Given the description of an element on the screen output the (x, y) to click on. 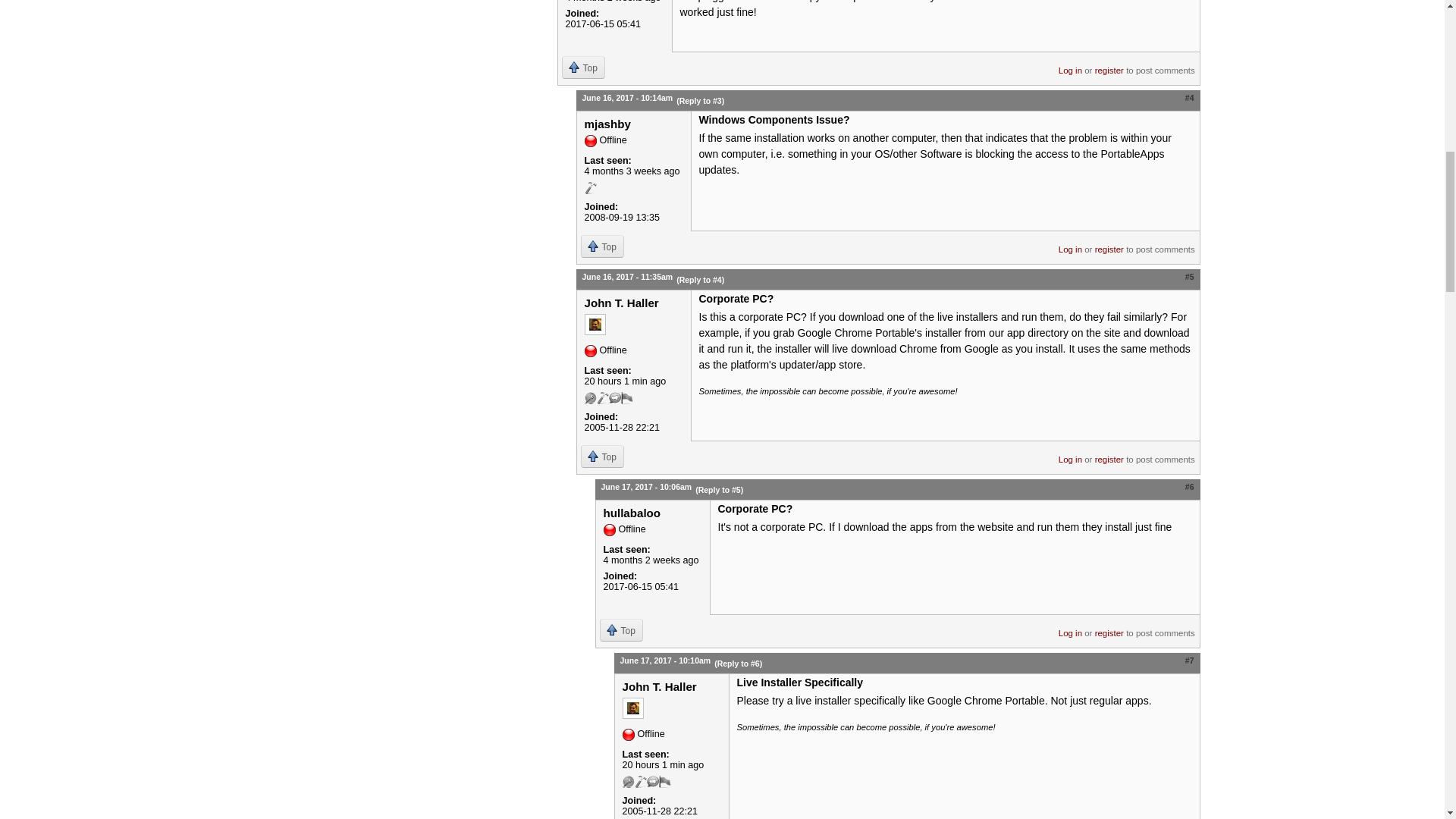
Top (582, 67)
Jump to top of page (582, 67)
Developer (589, 187)
